Given the description of an element on the screen output the (x, y) to click on. 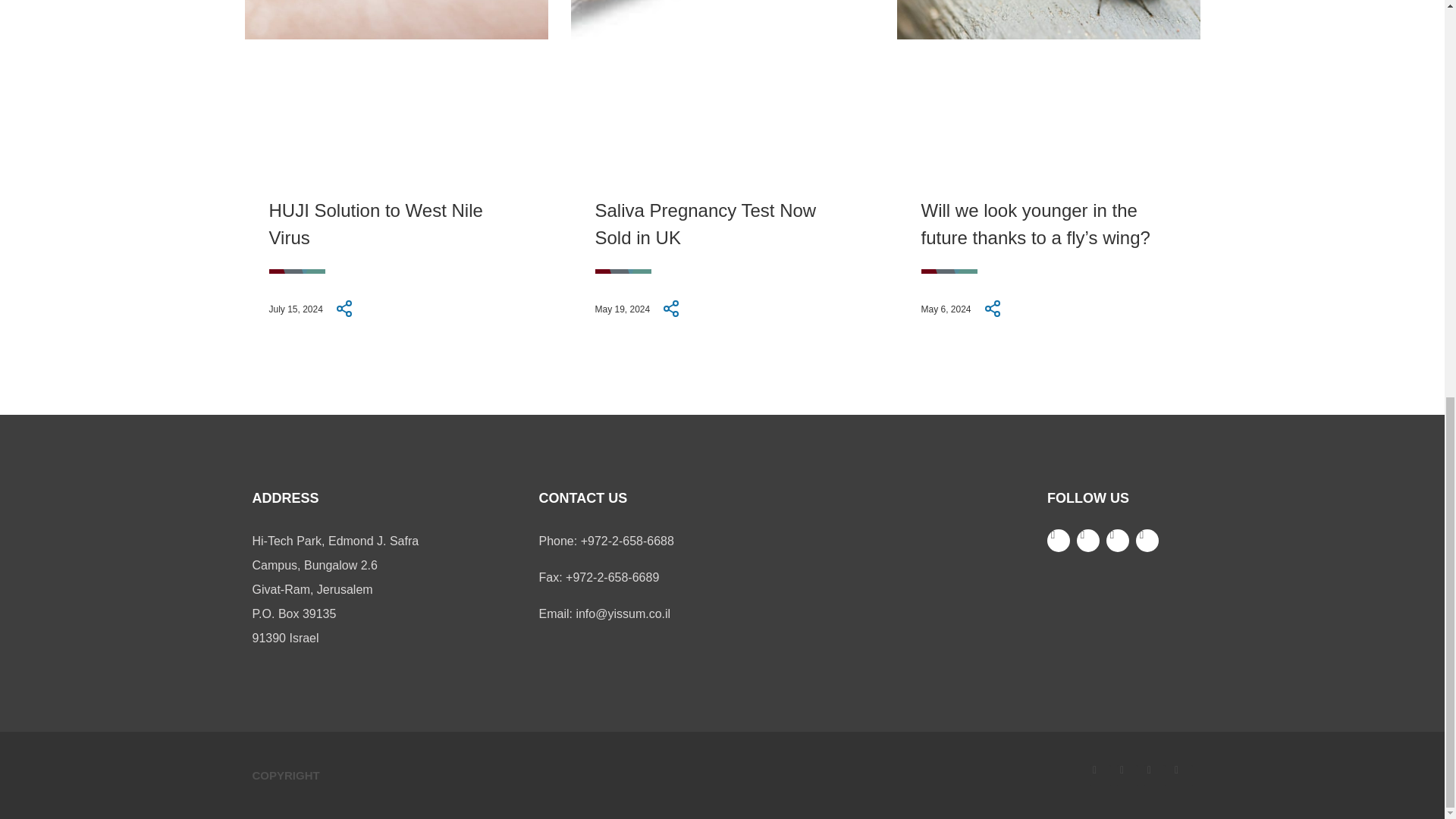
HUJI Solution to West Nile Virus (374, 223)
